Given the description of an element on the screen output the (x, y) to click on. 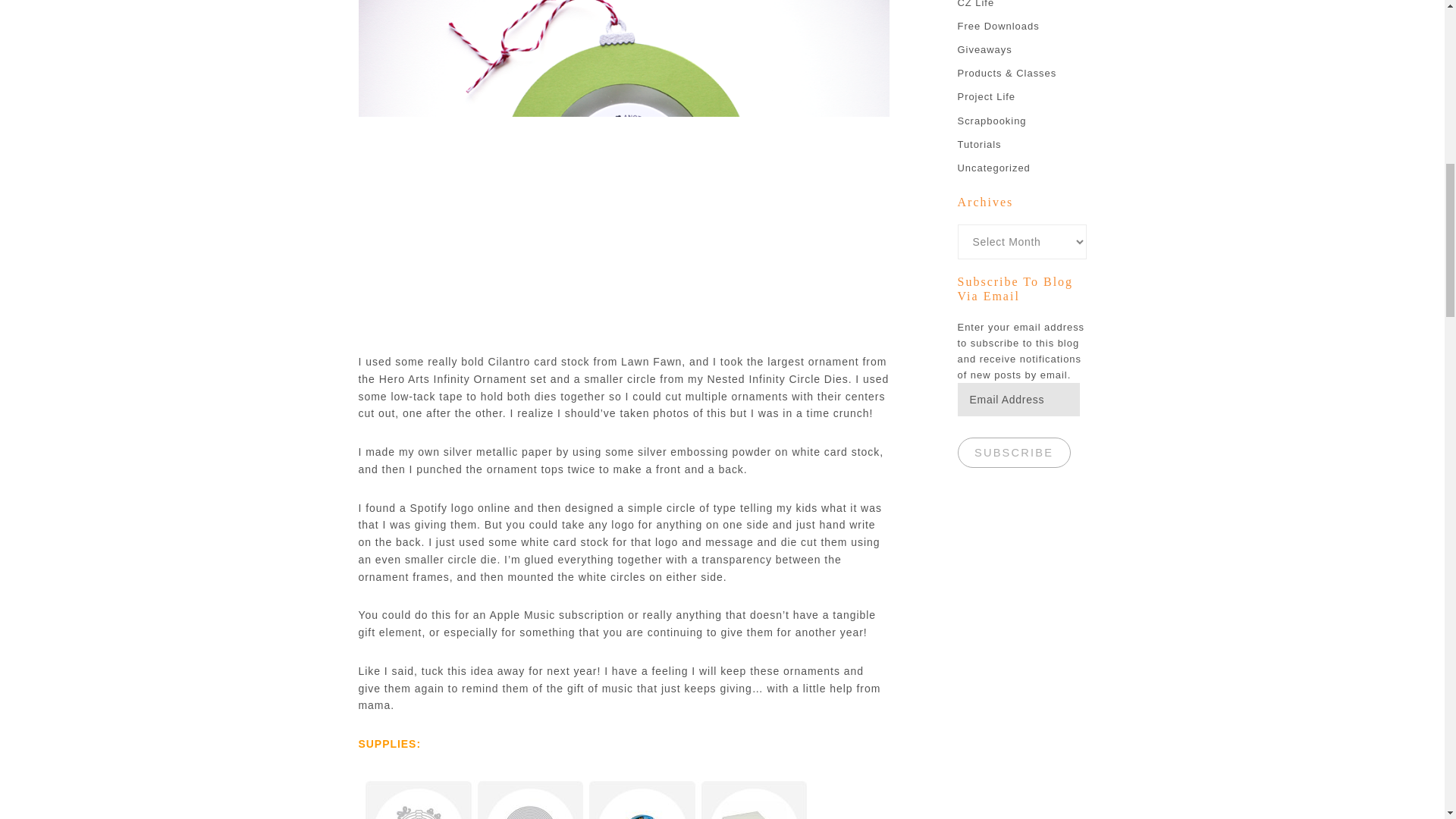
CZ Life (975, 4)
Free Downloads (997, 25)
Giveaways (983, 49)
